Given the description of an element on the screen output the (x, y) to click on. 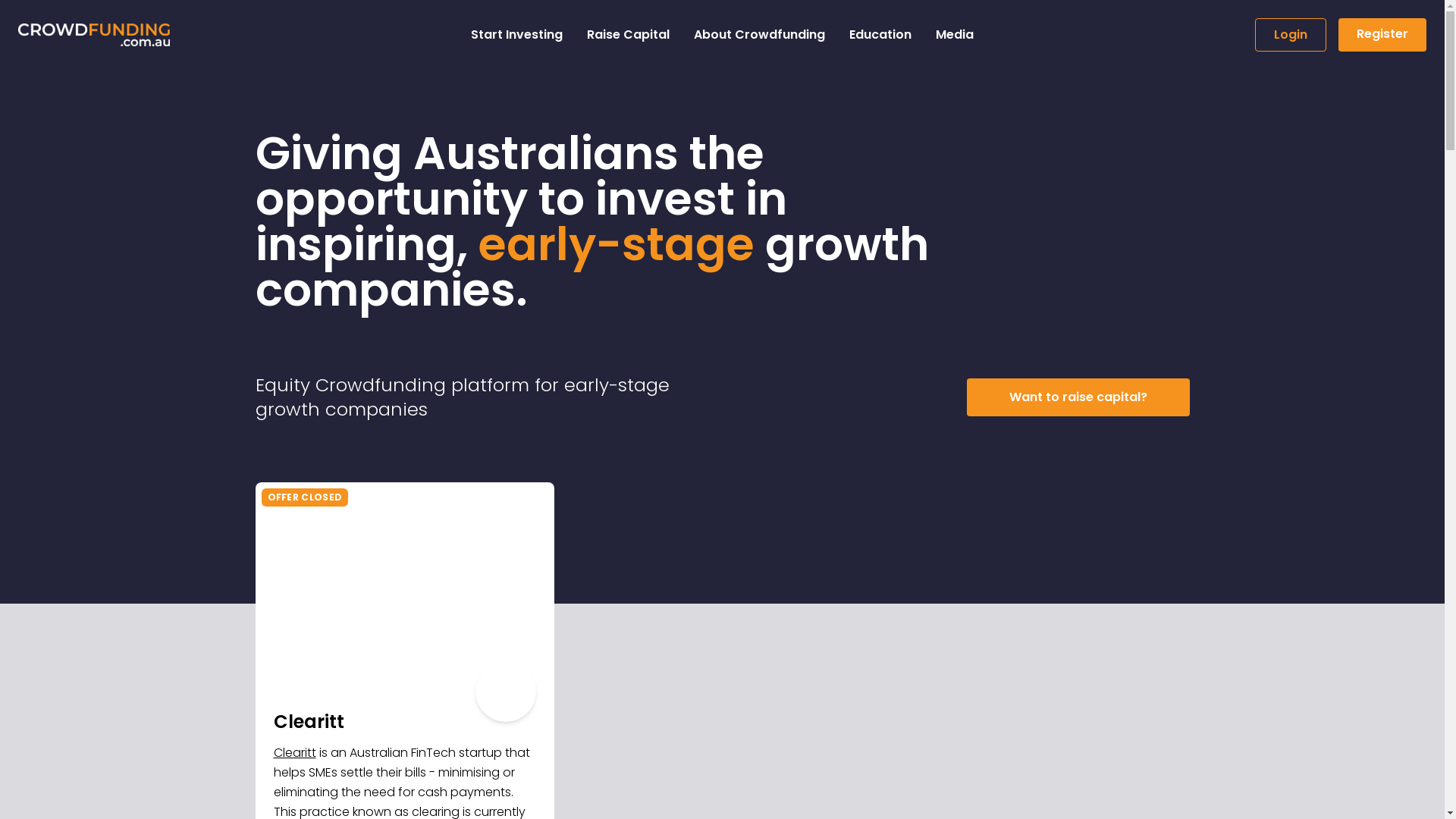
Want to raise capital? Element type: text (1077, 397)
Clearitt Element type: text (404, 721)
Education Element type: text (880, 34)
Start Investing Element type: text (516, 34)
OFFER CLOSED Element type: text (404, 586)
Register Element type: text (1382, 34)
About Crowdfunding Element type: text (759, 34)
Media Element type: text (954, 34)
Clearitt Element type: text (294, 752)
Login Element type: text (1290, 34)
Raise Capital Element type: text (627, 34)
